Given the description of an element on the screen output the (x, y) to click on. 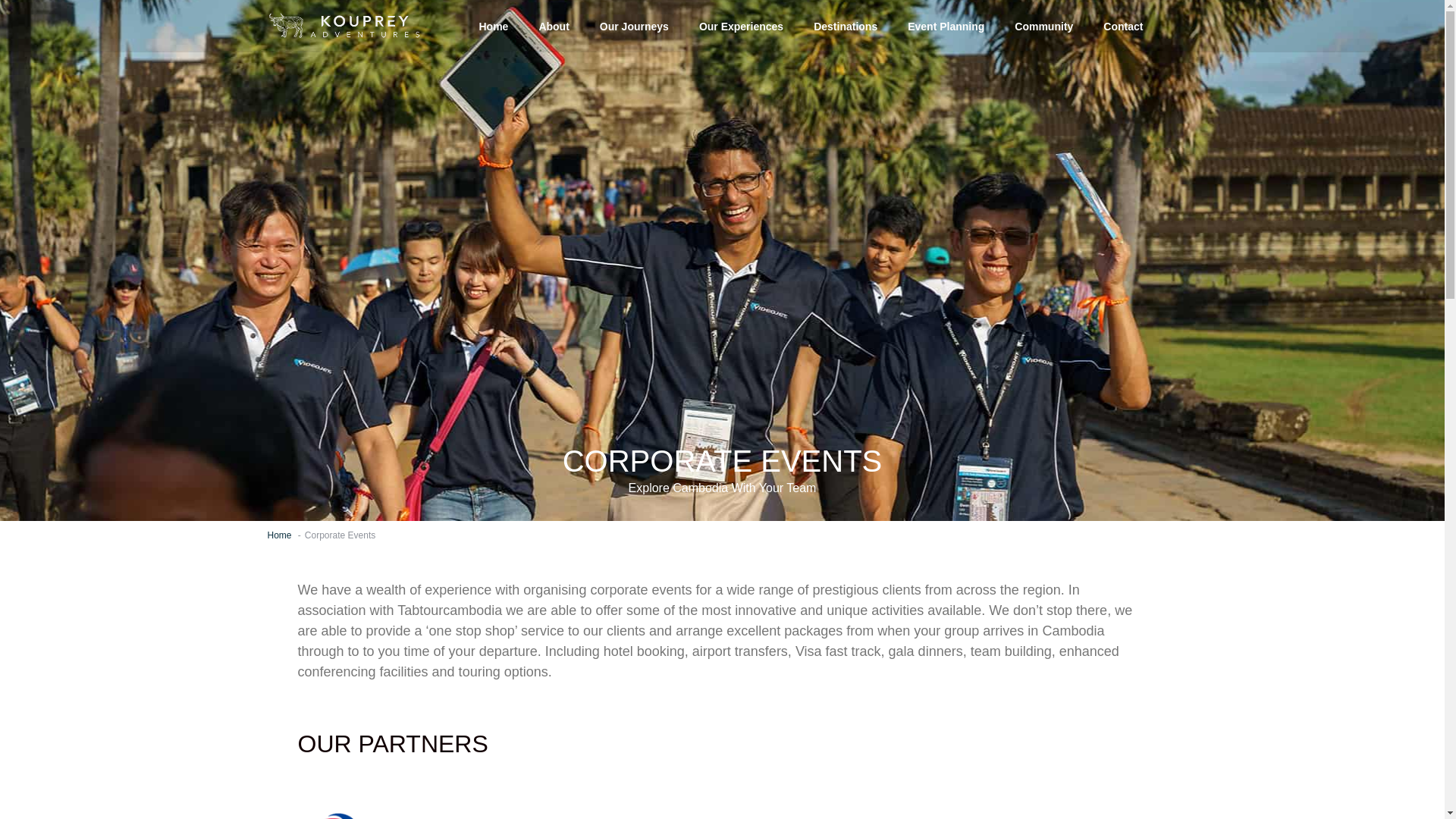
Contact (1122, 19)
Event Planning (945, 18)
Destinations (844, 9)
Community (1042, 19)
